Given the description of an element on the screen output the (x, y) to click on. 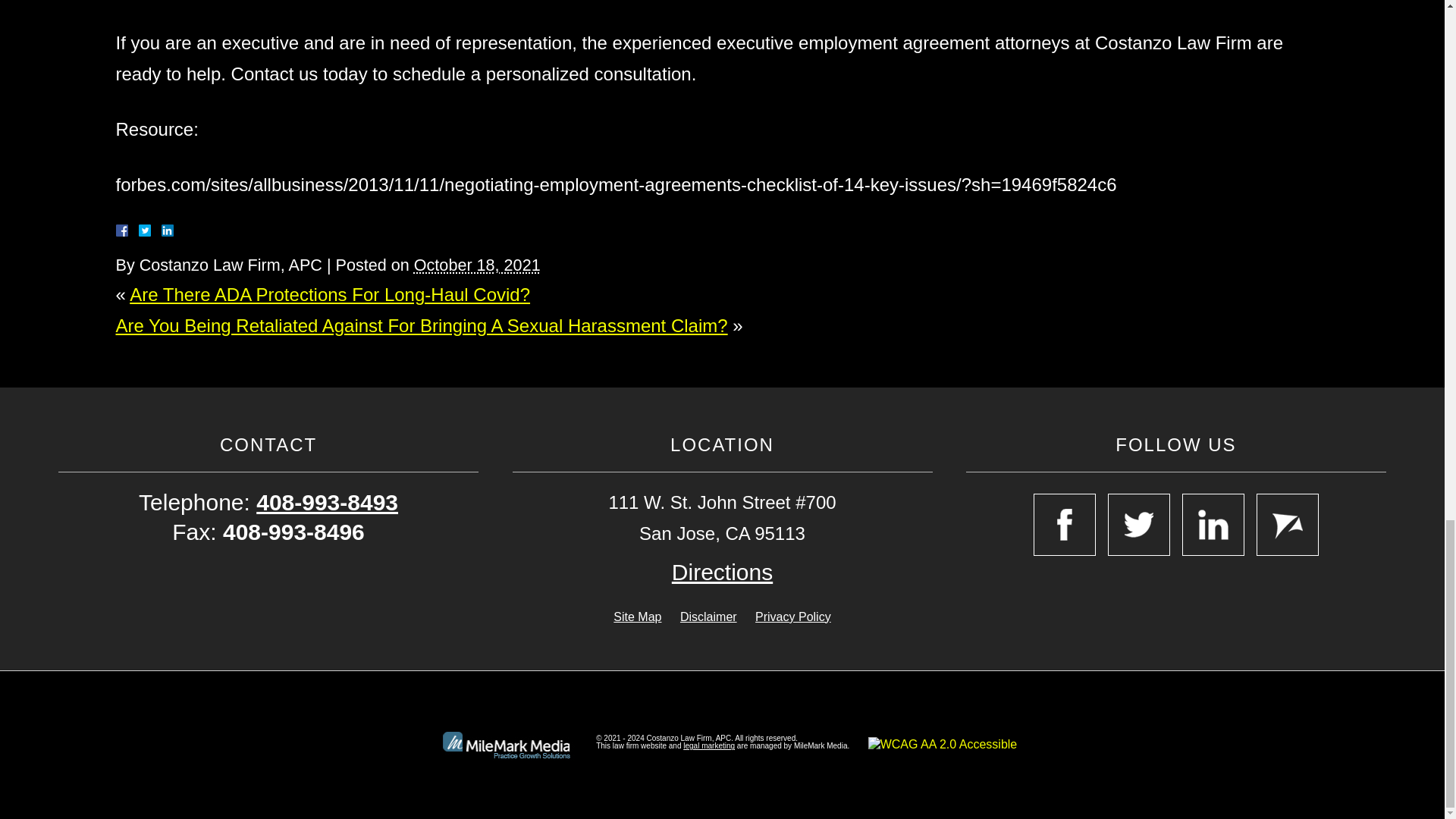
Open Avvo in a New Window (1287, 524)
Open Linkedin in a New Window (1213, 524)
Open Facebook in a New Window (1064, 524)
Open Google Map in a New Window (722, 572)
2021-10-18T03:00:19-0700 (476, 264)
Facebook (139, 230)
LinkedIn (160, 230)
Twitter (149, 230)
Open Twitter in a New Window (1139, 524)
